Given the description of an element on the screen output the (x, y) to click on. 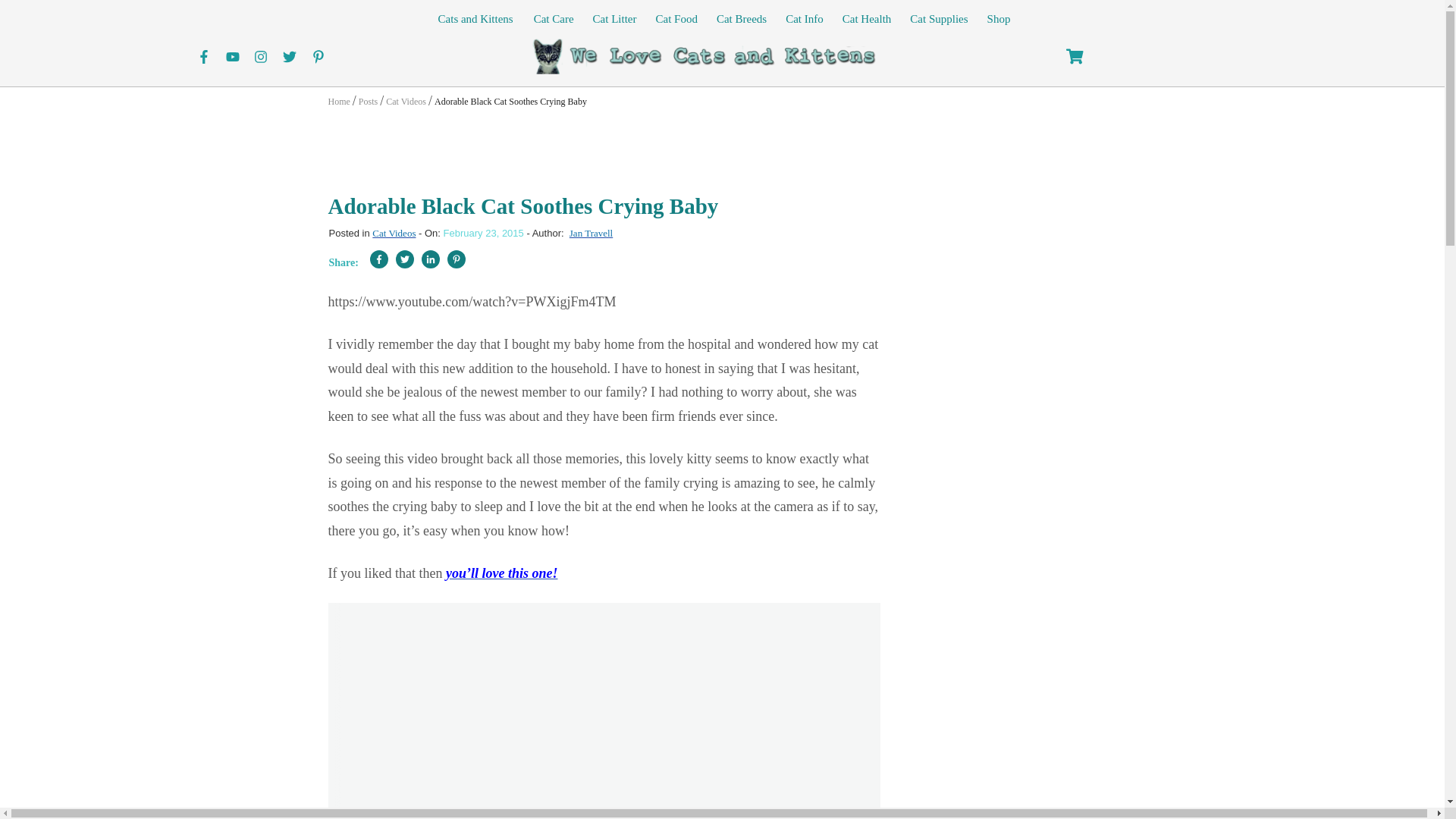
Cat Food (676, 18)
Cat Litter (614, 18)
Home (338, 100)
Cat Videos (393, 233)
Posts (367, 100)
Cat Supplies (939, 18)
Cat Care (553, 18)
Jan Travell (590, 233)
Cat Health (867, 18)
Cat Breeds (741, 18)
Cats and Kittens (475, 18)
Cat Videos (405, 100)
Jan Travell (590, 233)
Cat Info (805, 18)
Cat Videos (393, 233)
